Given the description of an element on the screen output the (x, y) to click on. 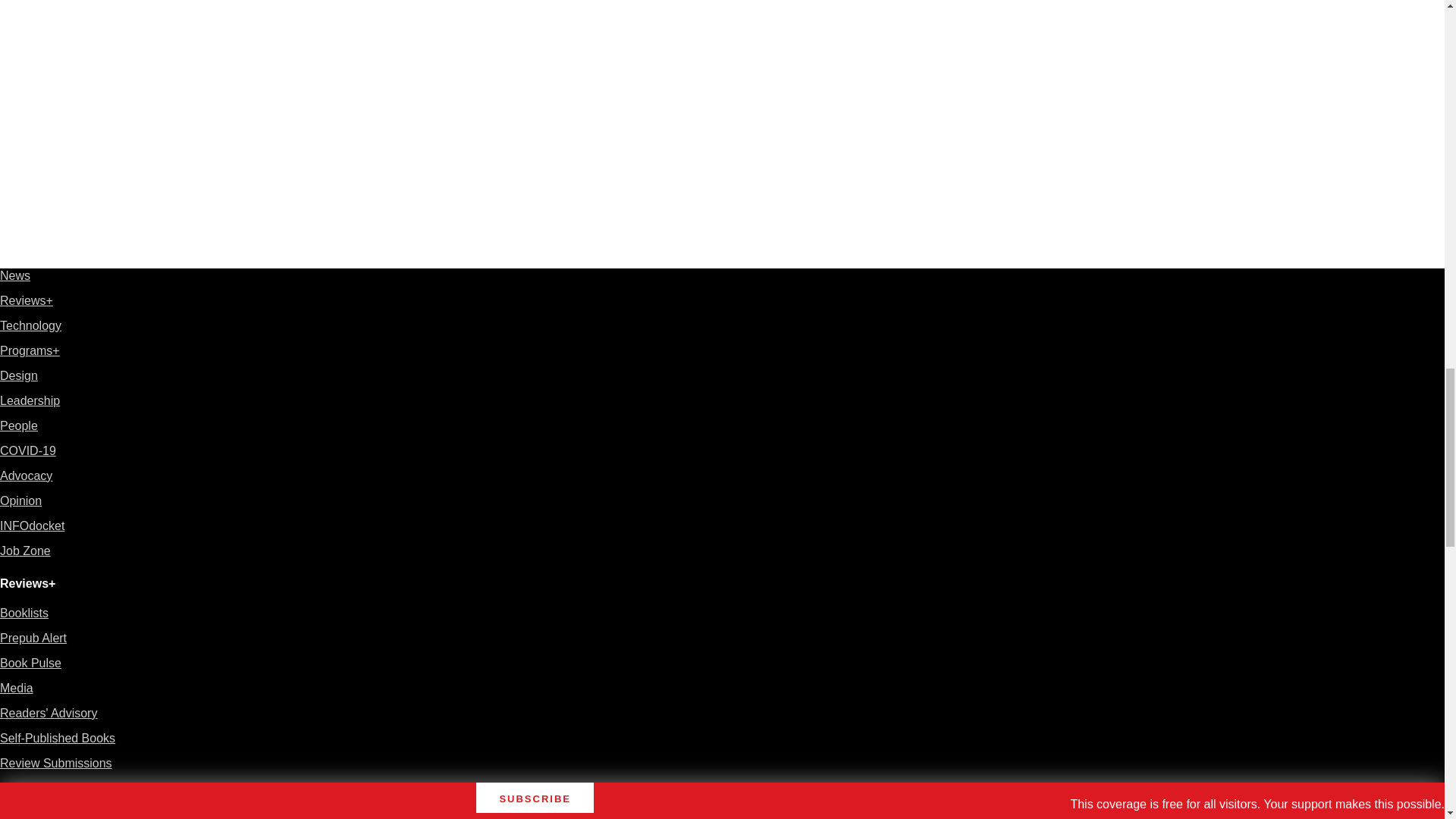
3rd party ad content (1106, 85)
